Given the description of an element on the screen output the (x, y) to click on. 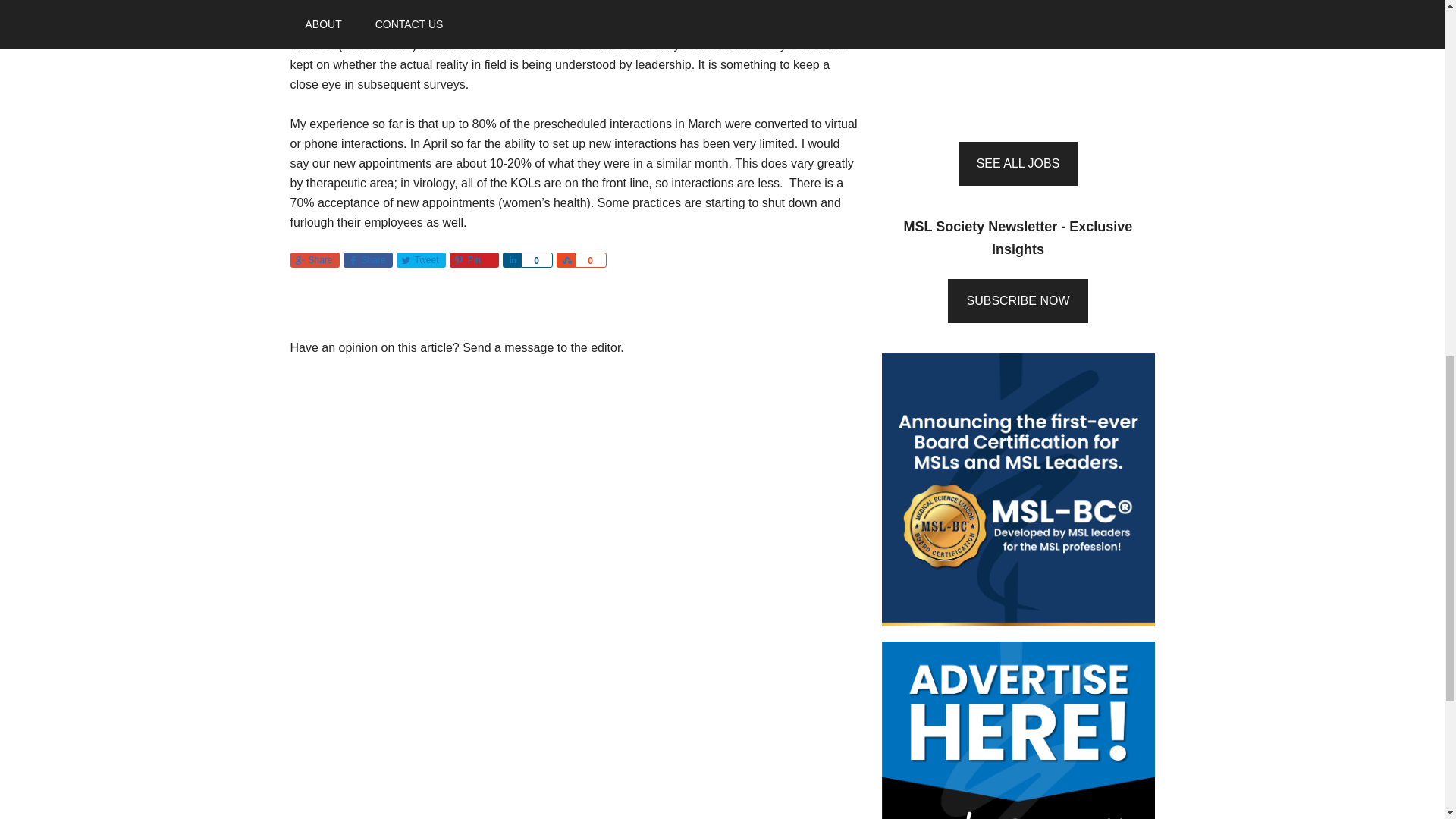
Share (510, 259)
0 (535, 259)
SUBSCRIBE NOW (1017, 300)
Share (314, 259)
Pin (472, 259)
Share (366, 259)
Tweet (420, 259)
Share (565, 259)
SEE ALL JOBS (1018, 163)
0 (591, 259)
